Given the description of an element on the screen output the (x, y) to click on. 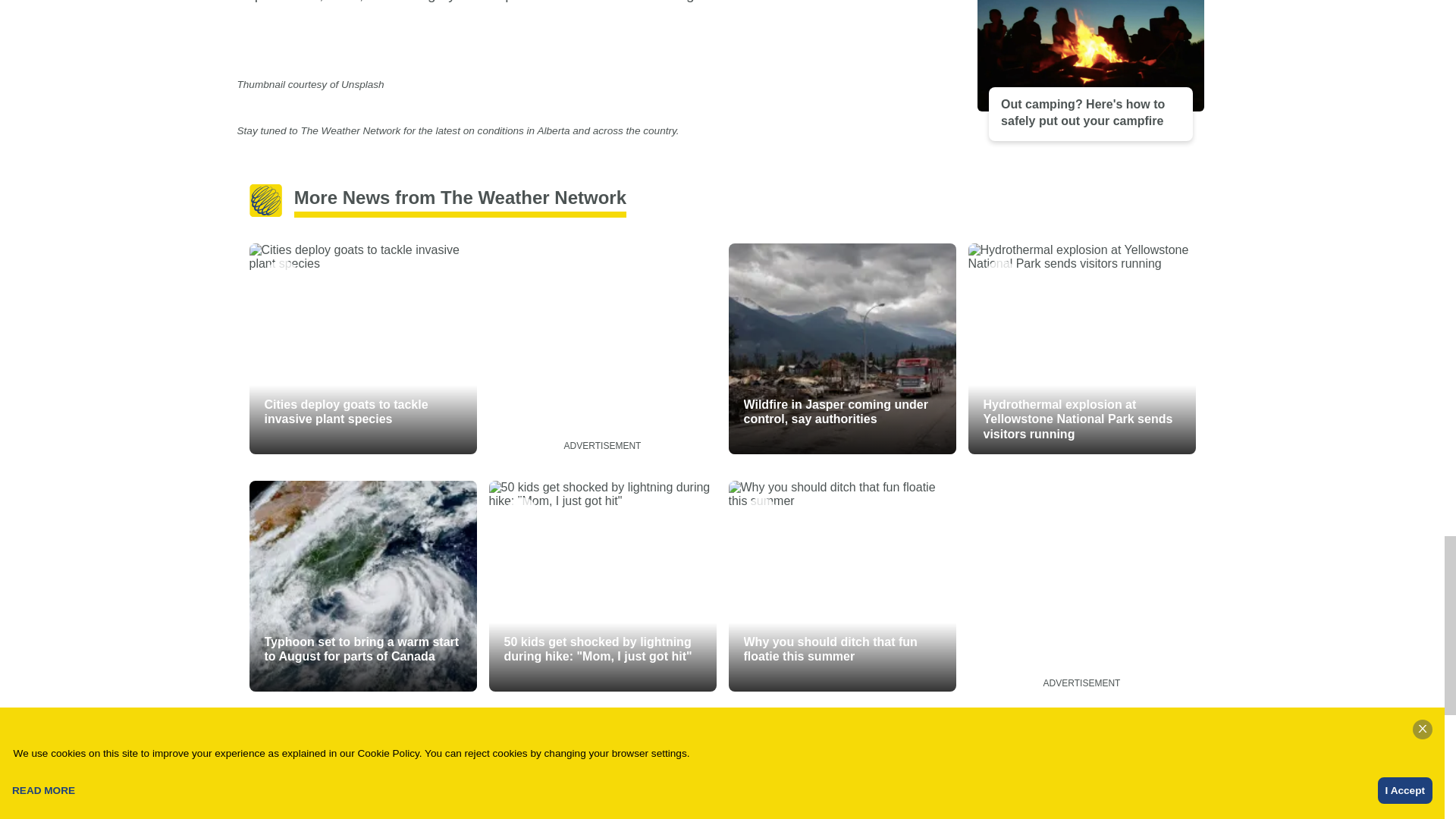
Lunch-stealing bear in Whistler gives tourists a surprise (841, 768)
Cities deploy goats to tackle invasive plant species (362, 348)
Why you should ditch that fun floatie this summer (841, 585)
Wildfire in Jasper coming under control, say authorities (841, 348)
